Given the description of an element on the screen output the (x, y) to click on. 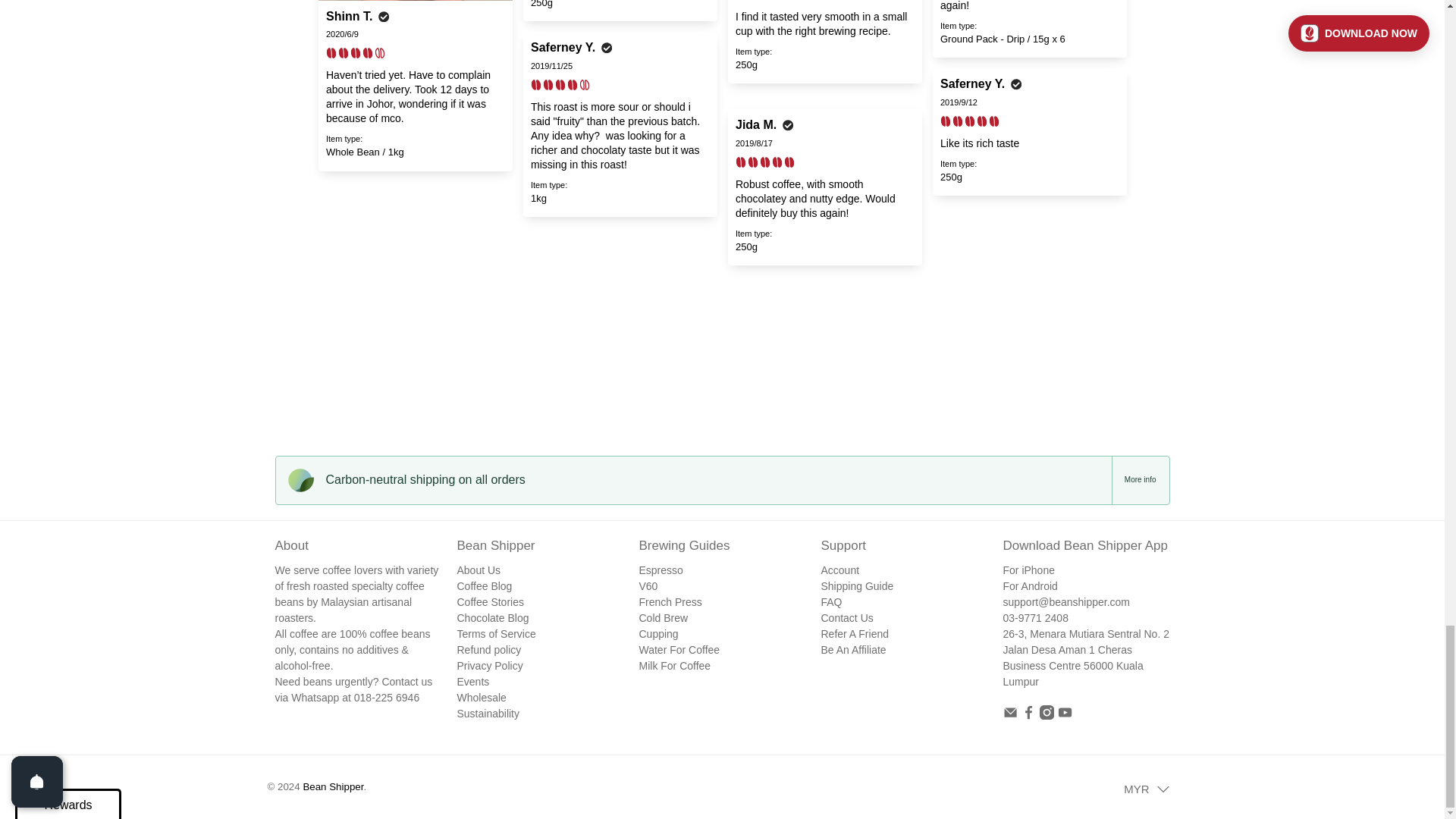
Email Bean Shipper (1009, 715)
Bean Shipper on Facebook (1028, 715)
Bean Shipper android app (1030, 585)
Contact Us (1066, 602)
Bean Shipper on YouTube (1064, 715)
Bean Shipper Iphone ios app (1028, 570)
Bean Shipper on Instagram (1046, 715)
